Given the description of an element on the screen output the (x, y) to click on. 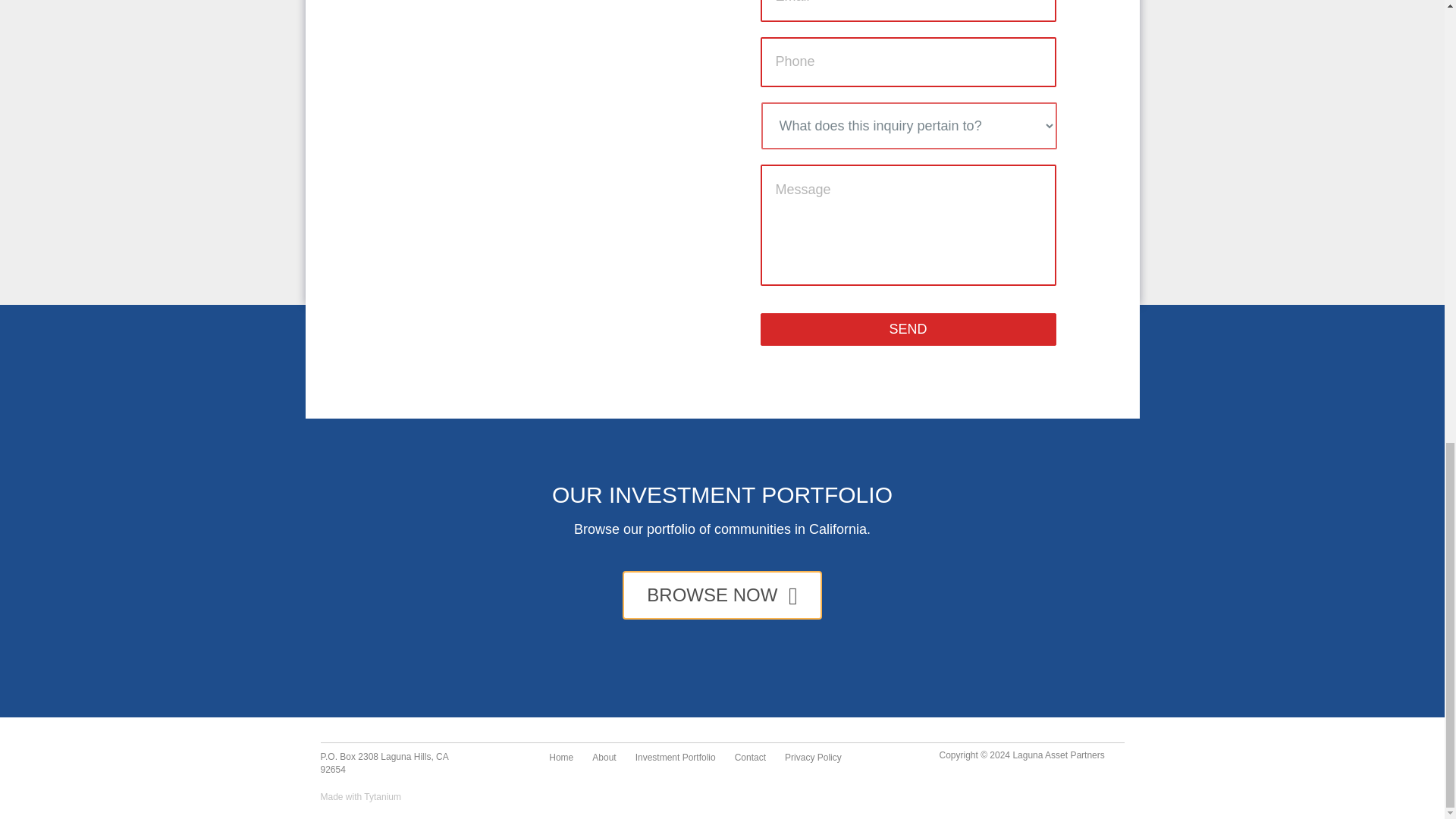
Privacy Policy (813, 757)
SEND (907, 329)
Home (561, 757)
Investment Portfolio (675, 757)
BROWSE NOW (722, 594)
SEND (907, 329)
Made with Tytanium (360, 796)
Contact (749, 757)
About (603, 757)
Made with Tytanium (360, 796)
